Given the description of an element on the screen output the (x, y) to click on. 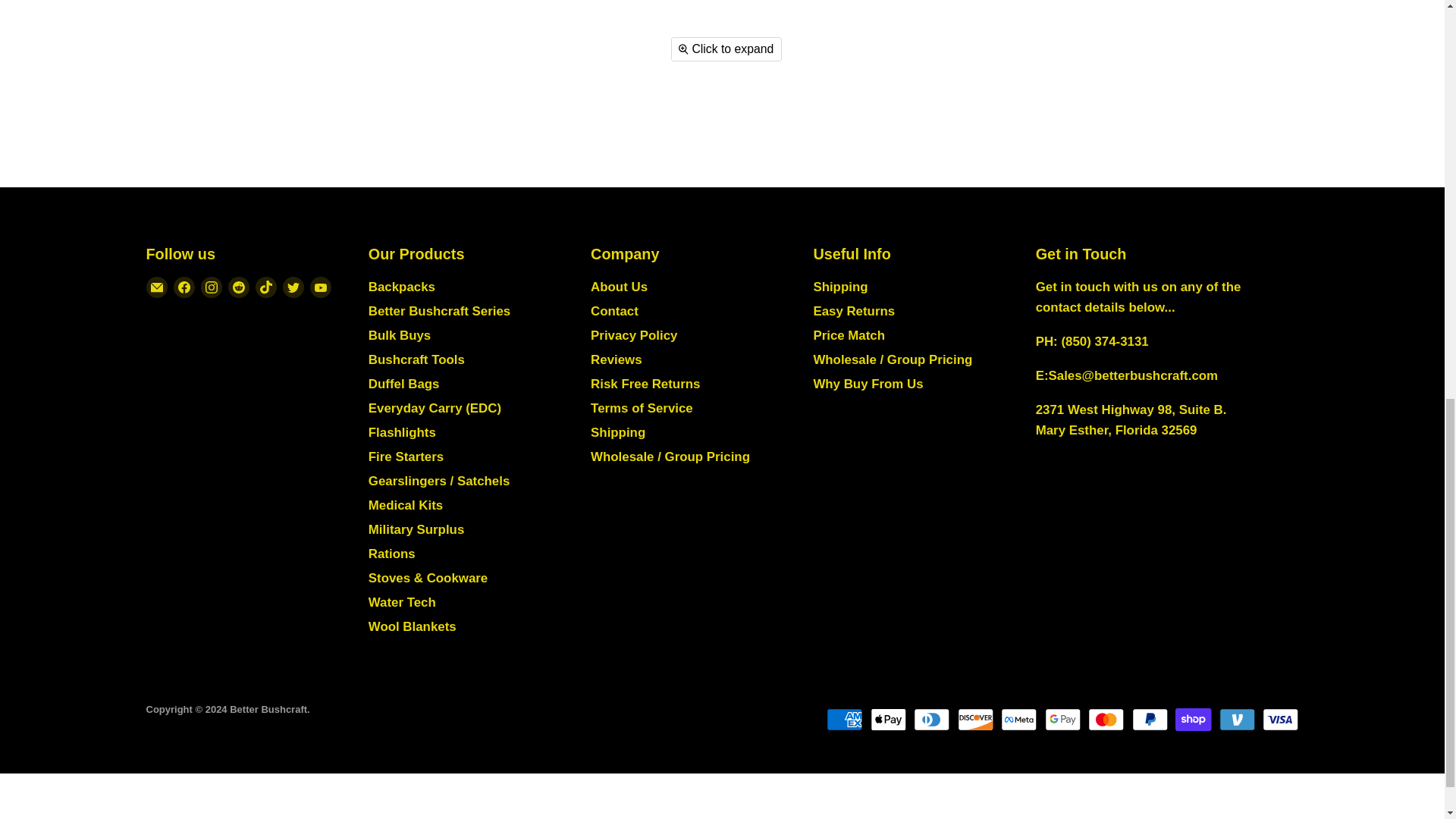
TikTok (265, 287)
YouTube (319, 287)
Twitter (292, 287)
E-mail (156, 287)
Reddit (237, 287)
Instagram (210, 287)
Facebook (183, 287)
